Given the description of an element on the screen output the (x, y) to click on. 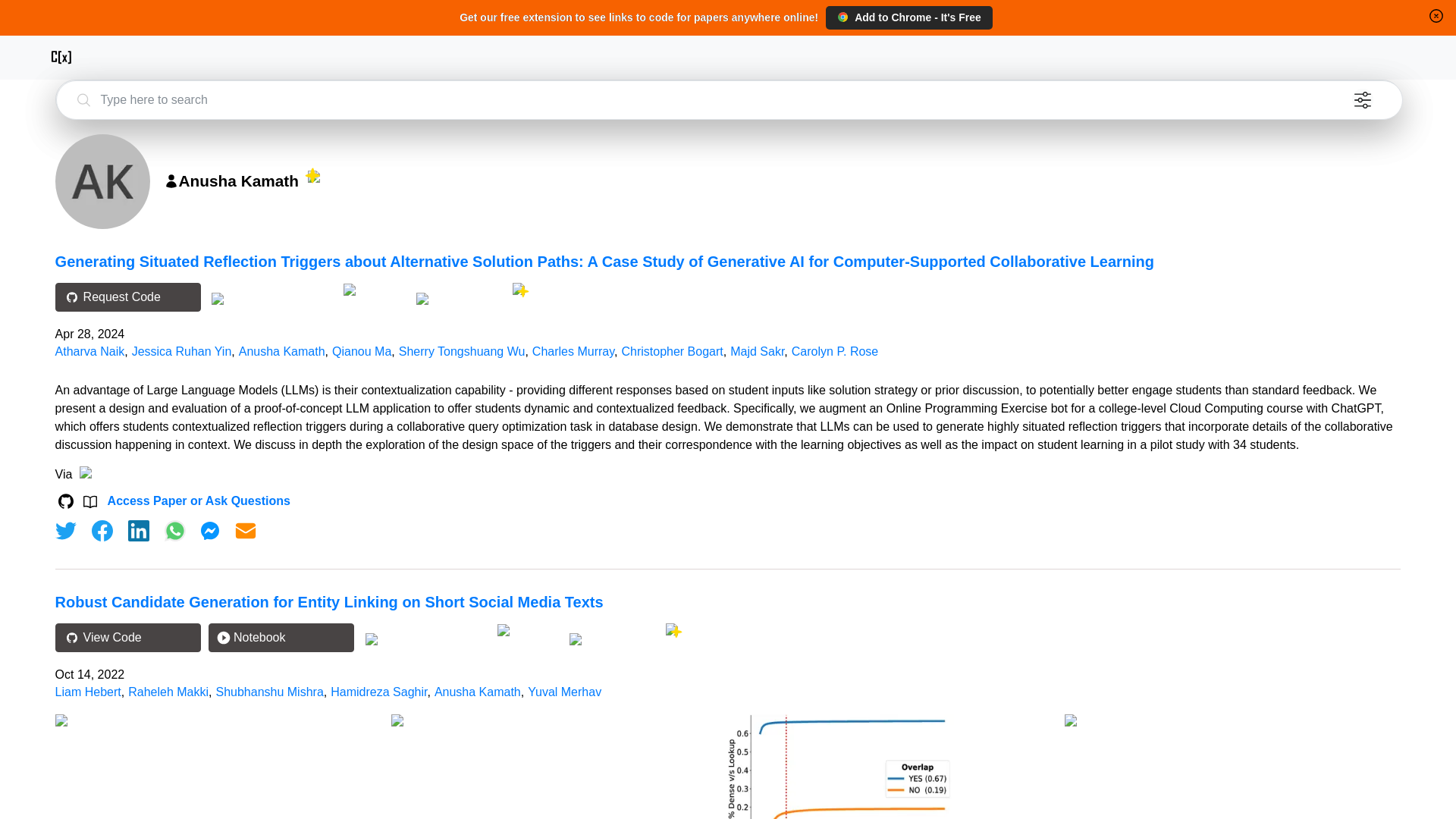
View Code (127, 637)
Contribute your code for this paper to the community (375, 289)
Add to Chrome - It's Free (908, 17)
Carolyn P. Rose (834, 350)
Qianou Ma (361, 350)
Request Code (127, 297)
Christopher Bogart (671, 350)
Sherry Tongshuang Wu (461, 350)
Raheleh Makki (168, 691)
Bookmark this paper (459, 296)
Majd Sakr (757, 350)
Charles Murray (573, 350)
Shubhanshu Mishra (269, 691)
